Given the description of an element on the screen output the (x, y) to click on. 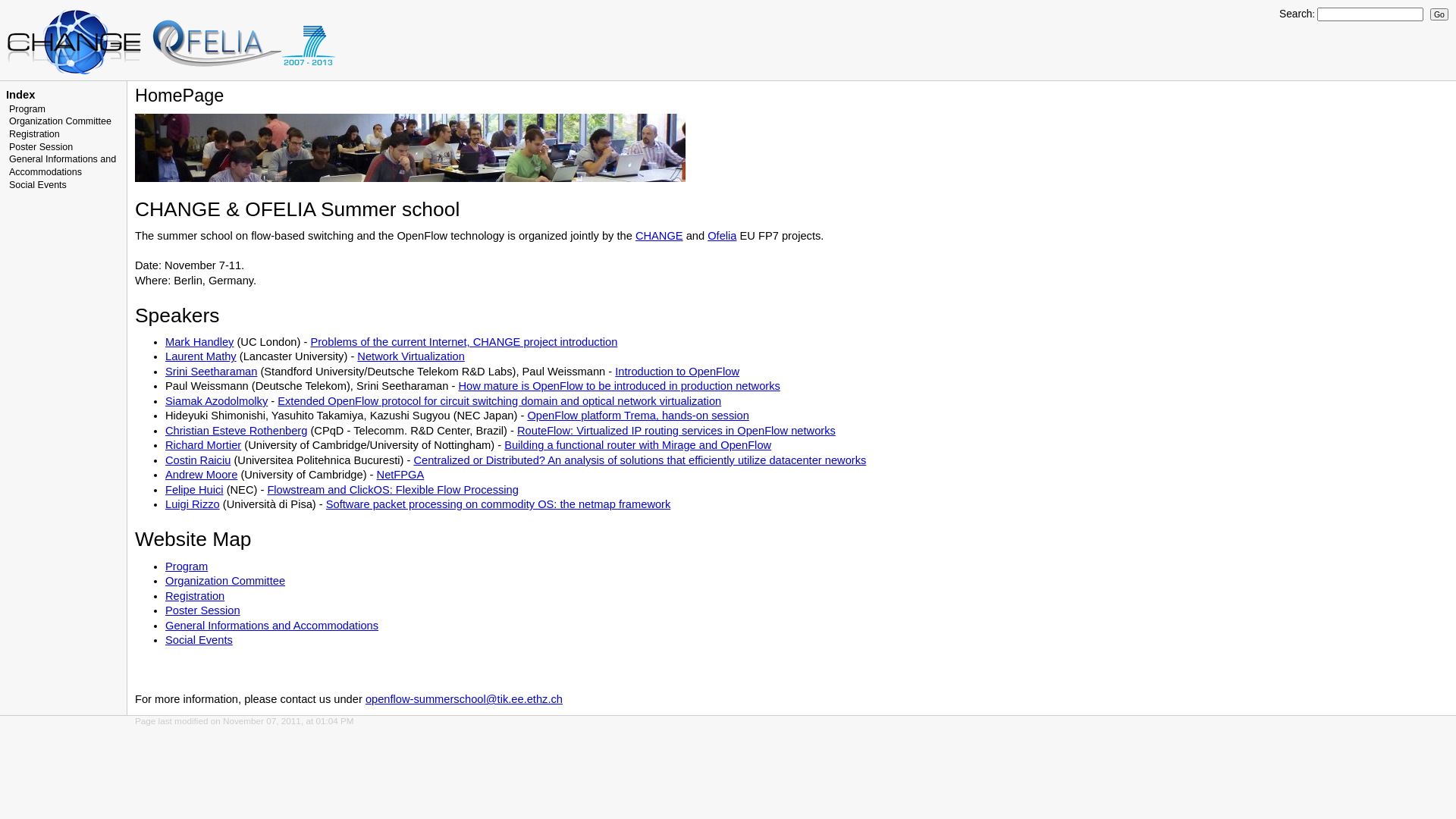
Go Element type: text (1439, 14)
Felipe Huici Element type: text (194, 489)
openflow-summerschool@tik.ee.ethz.ch Element type: text (463, 699)
Building a functional router with Mirage and OpenFlow Element type: text (637, 445)
Social Events Element type: text (37, 184)
Network Virtualization Element type: text (410, 356)
Mark Handley Element type: text (199, 341)
Poster Session Element type: text (202, 610)
General Informations and Accommodations Element type: text (62, 165)
Laurent Mathy Element type: text (200, 356)
OpenFlow platform Trema, hands-on session Element type: text (637, 415)
Costin Raiciu Element type: text (197, 460)
Introduction to OpenFlow Element type: text (677, 371)
Search Element type: text (1295, 13)
Siamak Azodolmolky Element type: text (216, 401)
Program Element type: text (186, 566)
Andrew Moore Element type: text (201, 474)
Program Element type: text (27, 108)
Social Events Element type: text (198, 639)
Luigi Rizzo Element type: text (192, 504)
Flowstream and ClickOS: Flexible Flow Processing Element type: text (392, 489)
Srini Seetharaman Element type: text (211, 371)
Index Element type: text (20, 94)
CHANGE Element type: text (659, 235)
Registration Element type: text (34, 133)
Ofelia Element type: text (721, 235)
Christian Esteve Rothenberg Element type: text (236, 430)
Registration Element type: text (194, 595)
NetFPGA Element type: text (400, 474)
Organization Committee Element type: text (225, 580)
Richard Mortier Element type: text (203, 445)
Organization Committee Element type: text (60, 121)
Poster Session Element type: text (40, 146)
General Informations and Accommodations Element type: text (271, 625)
